Given the description of an element on the screen output the (x, y) to click on. 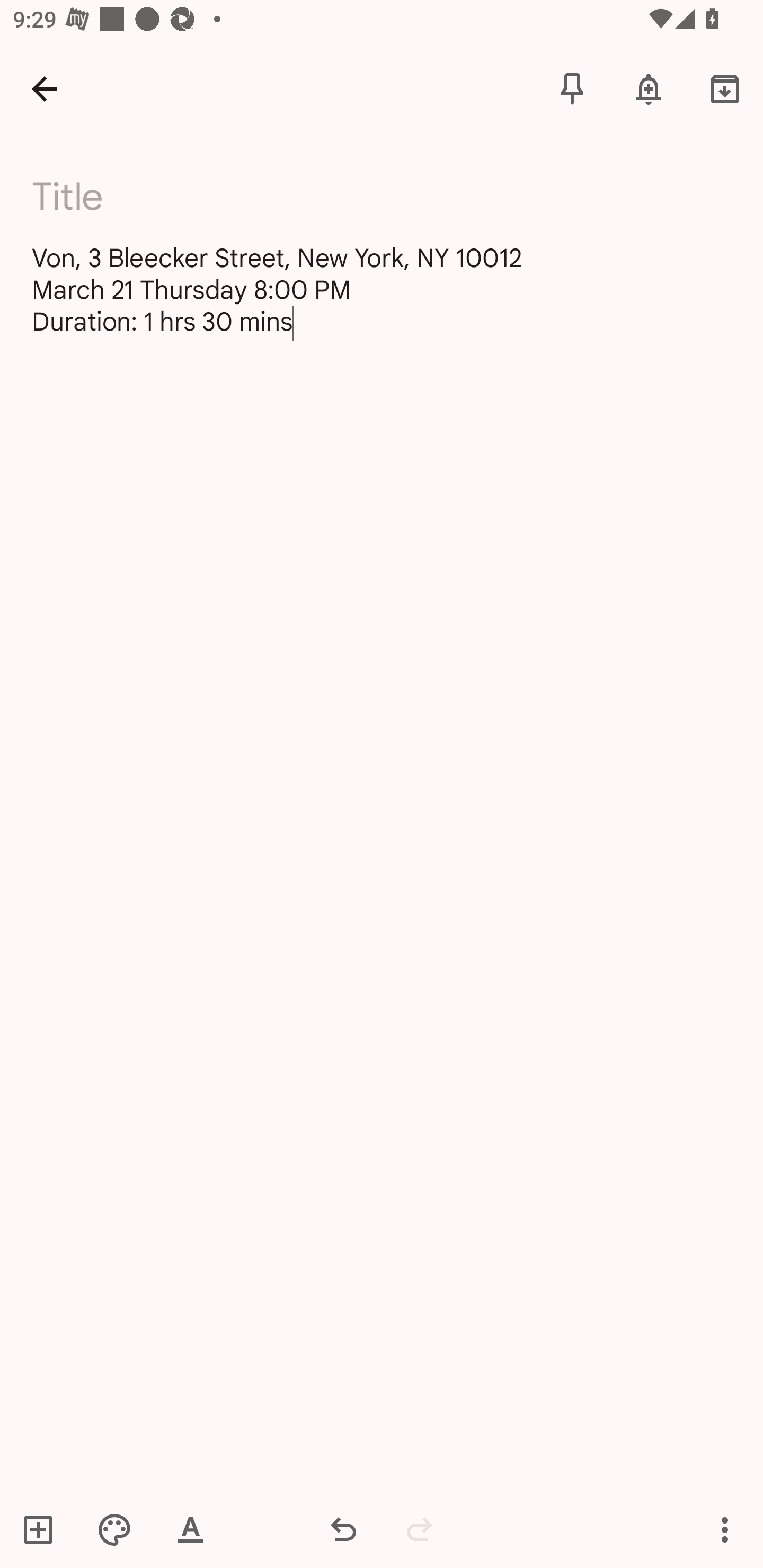
Navigate up (44, 88)
Pin (572, 88)
Reminder (648, 88)
Archive (724, 88)
Title (392, 196)
New list (44, 1529)
Theme (114, 1529)
Show formatting controls (190, 1529)
Undo (343, 1529)
Redo (419, 1529)
Action (724, 1529)
